Given the description of an element on the screen output the (x, y) to click on. 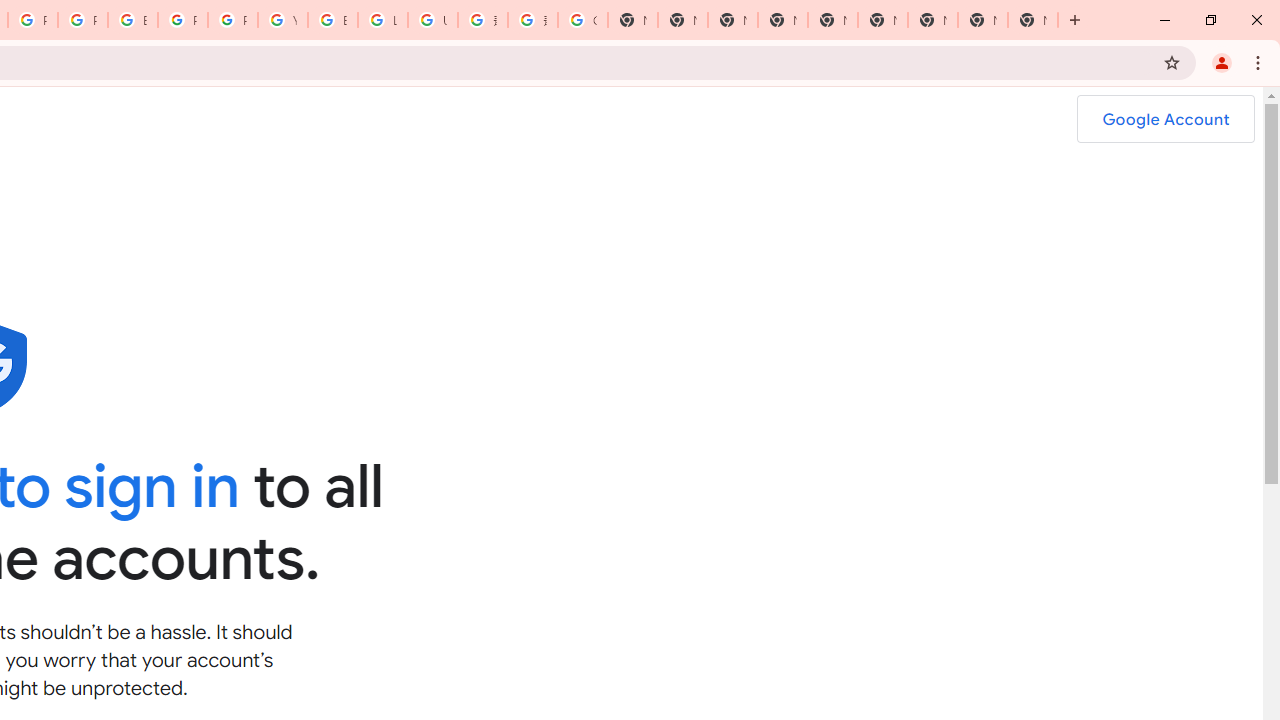
Google Images (582, 20)
New Tab (782, 20)
Google Account (1165, 119)
YouTube (283, 20)
